Given the description of an element on the screen output the (x, y) to click on. 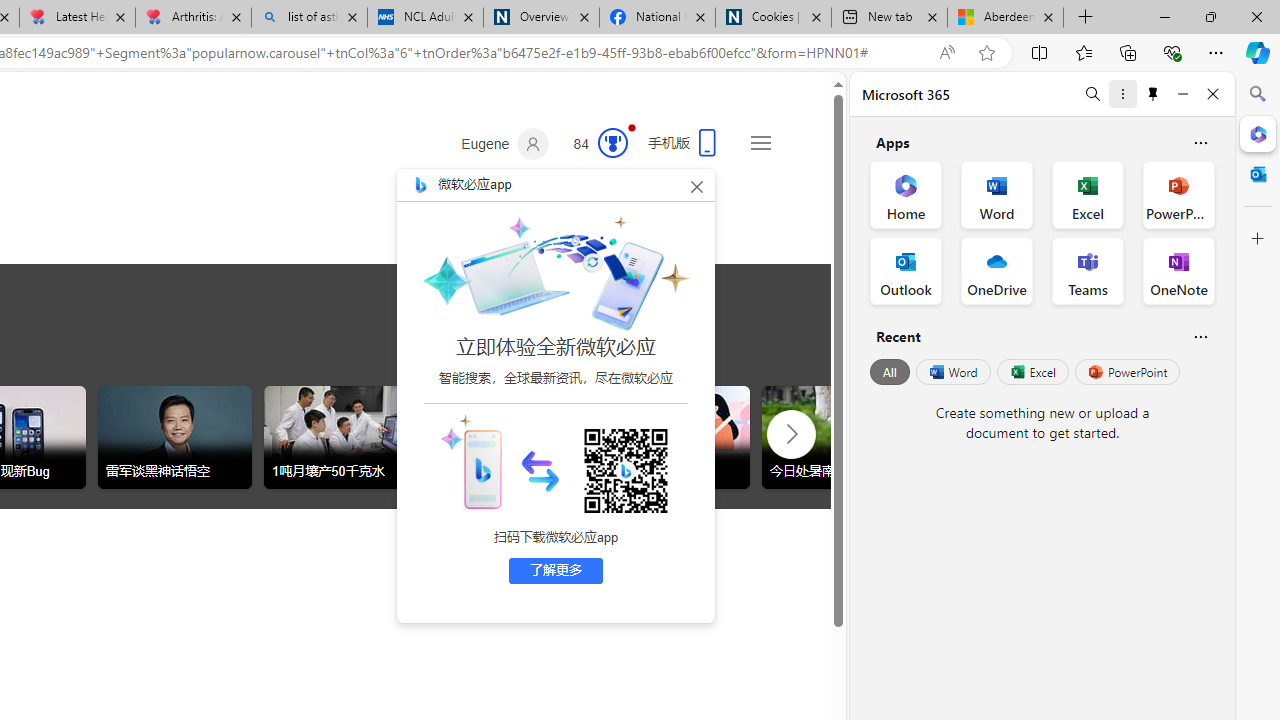
Excel (1031, 372)
Outlook Office App (906, 270)
Click to scroll right (790, 432)
Aberdeen, Hong Kong SAR hourly forecast | Microsoft Weather (1005, 17)
Arthritis: Ask Health Professionals (192, 17)
AutomationID: rh_meter (612, 142)
Close Customize pane (1258, 239)
AutomationID: fly_arrimg (539, 470)
Class: rms_img (470, 461)
